Given the description of an element on the screen output the (x, y) to click on. 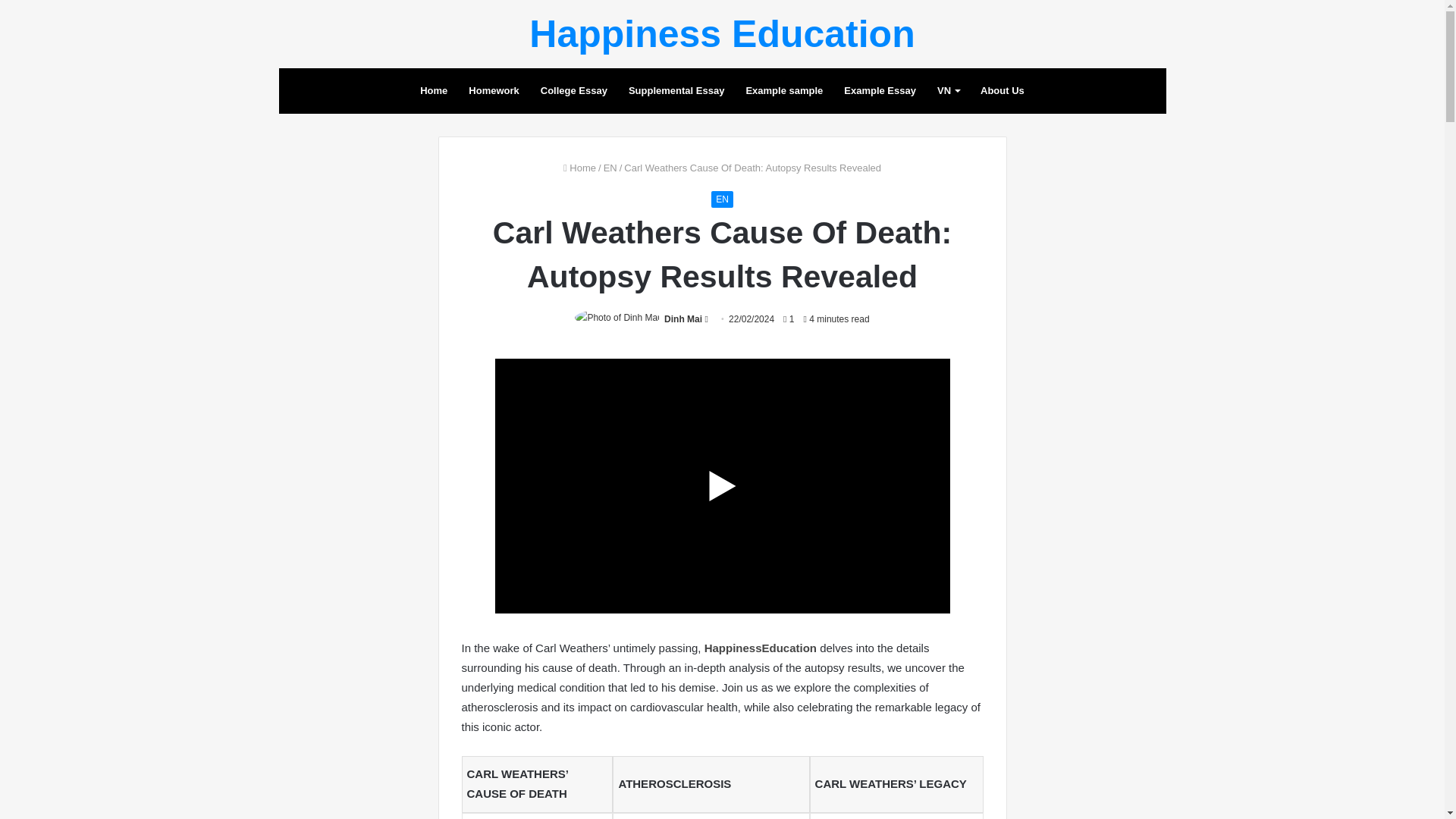
Happiness Education (721, 34)
Supplemental Essay (676, 90)
HappinessEducation (760, 647)
College Essay (573, 90)
Full video (722, 630)
Example sample (783, 90)
About Us (1002, 90)
EN (610, 167)
VN (947, 90)
Dinh Mai (682, 318)
Example Essay (879, 90)
Home (579, 167)
Dinh Mai (682, 318)
EN (722, 199)
Home (433, 90)
